Given the description of an element on the screen output the (x, y) to click on. 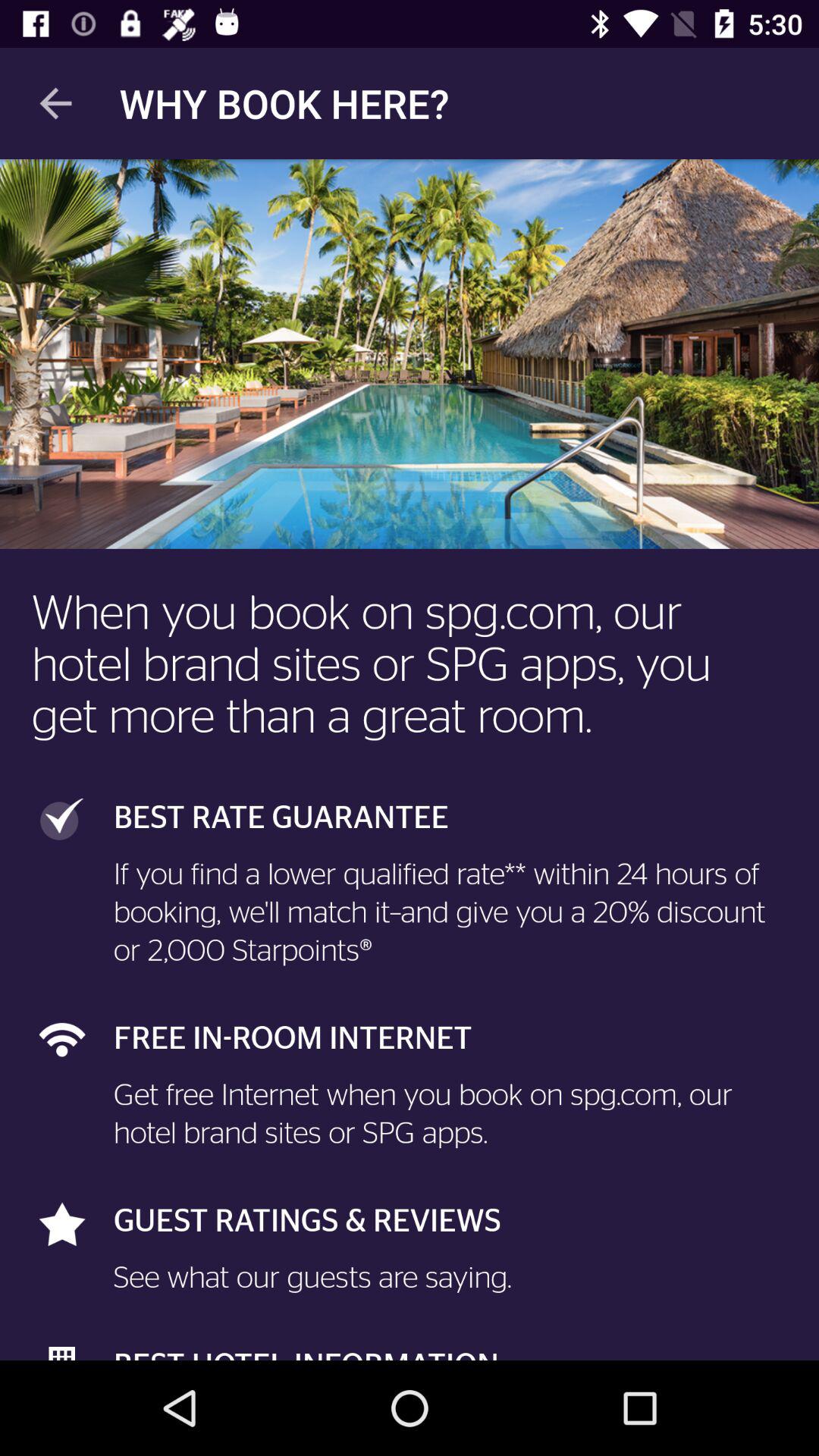
click icon next to the why book here? icon (55, 103)
